Given the description of an element on the screen output the (x, y) to click on. 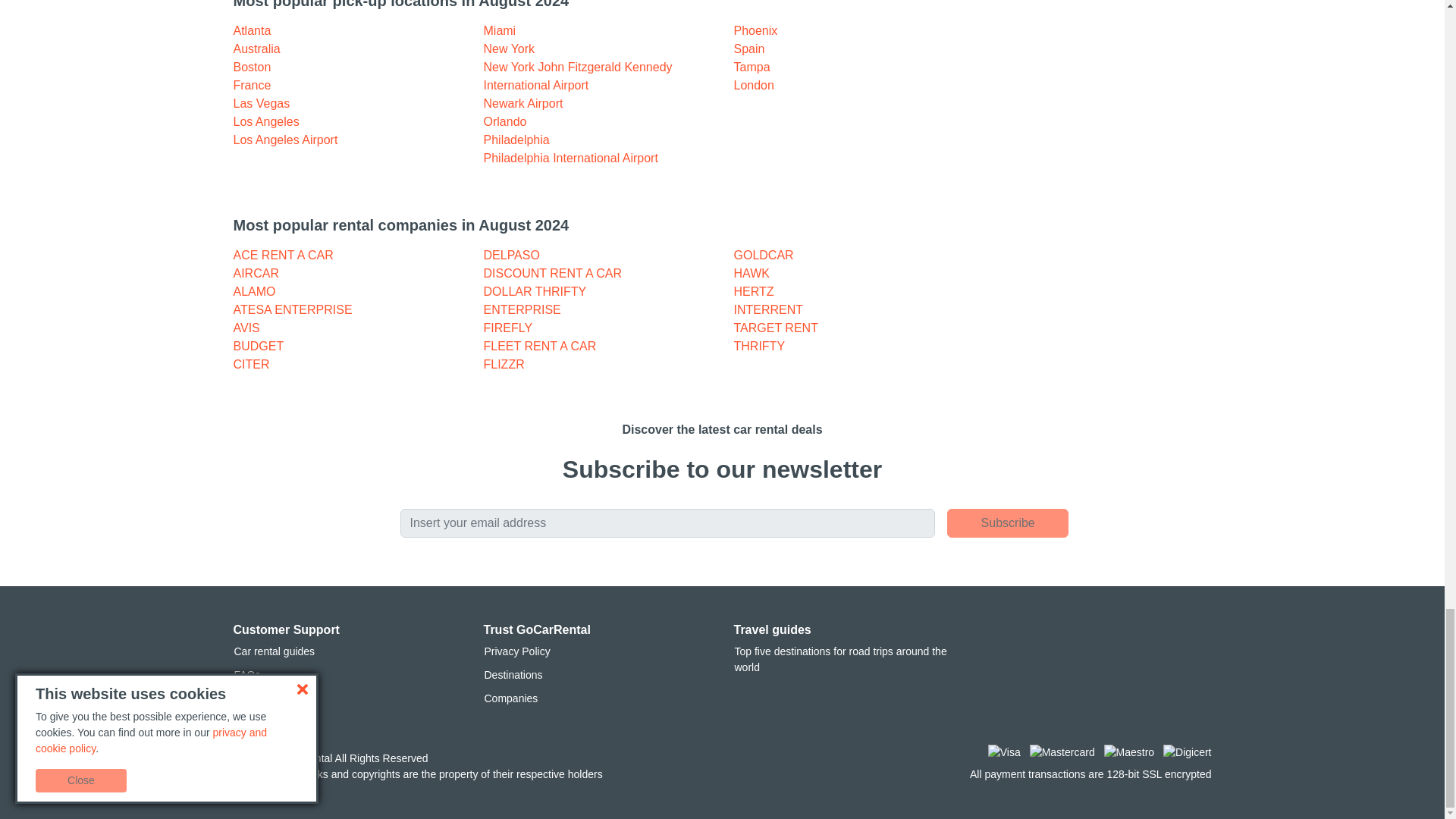
ALAMO (254, 291)
Spain (749, 48)
New York John Fitzgerald Kennedy International Airport (577, 75)
Tampa (751, 66)
Boston (251, 66)
Philadelphia International Airport (570, 157)
CITER (250, 364)
France (251, 84)
AVIS (246, 327)
Orlando (505, 121)
Las Vegas (260, 103)
ATESA ENTERPRISE (292, 309)
BUDGET (257, 345)
New York John Fitzgerald Kennedy International Airport (577, 75)
Tampa (751, 66)
